Given the description of an element on the screen output the (x, y) to click on. 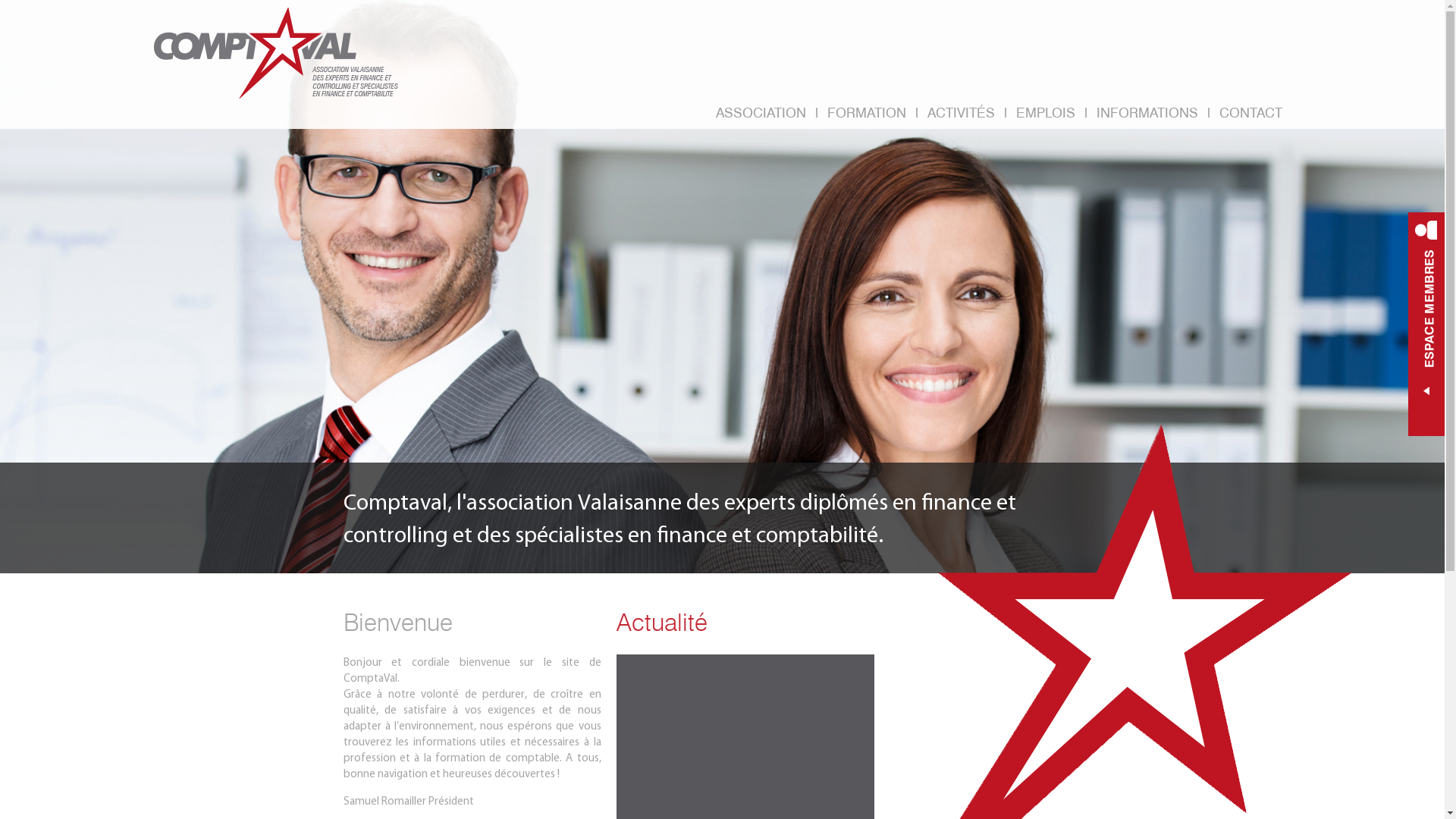
EMPLOIS Element type: text (1045, 113)
